Given the description of an element on the screen output the (x, y) to click on. 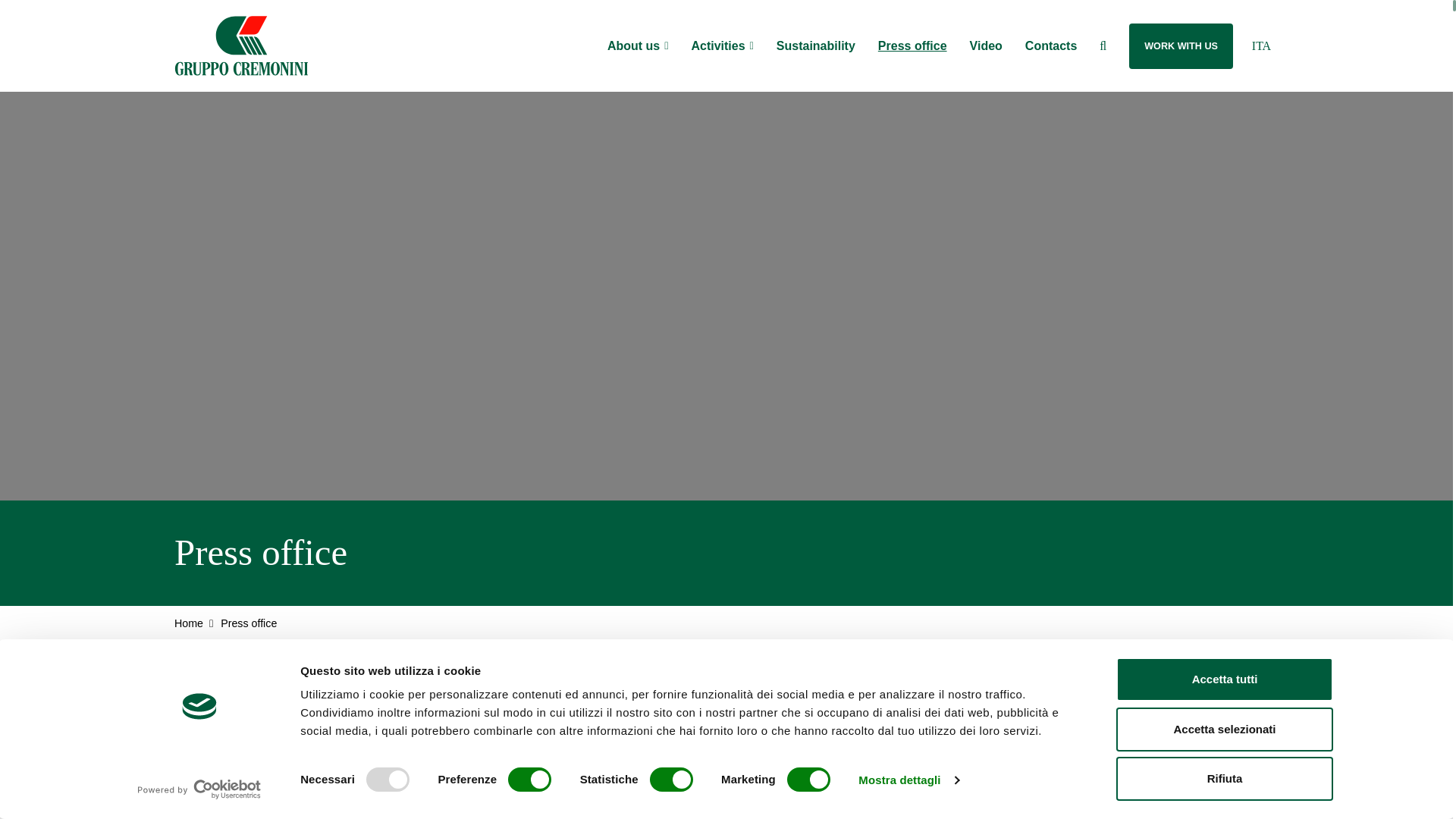
Rifiuta (1224, 778)
Activities (717, 45)
Accetta tutti (1224, 679)
Mostra dettagli (908, 780)
About us (633, 45)
Accetta selezionati (1224, 728)
